Given the description of an element on the screen output the (x, y) to click on. 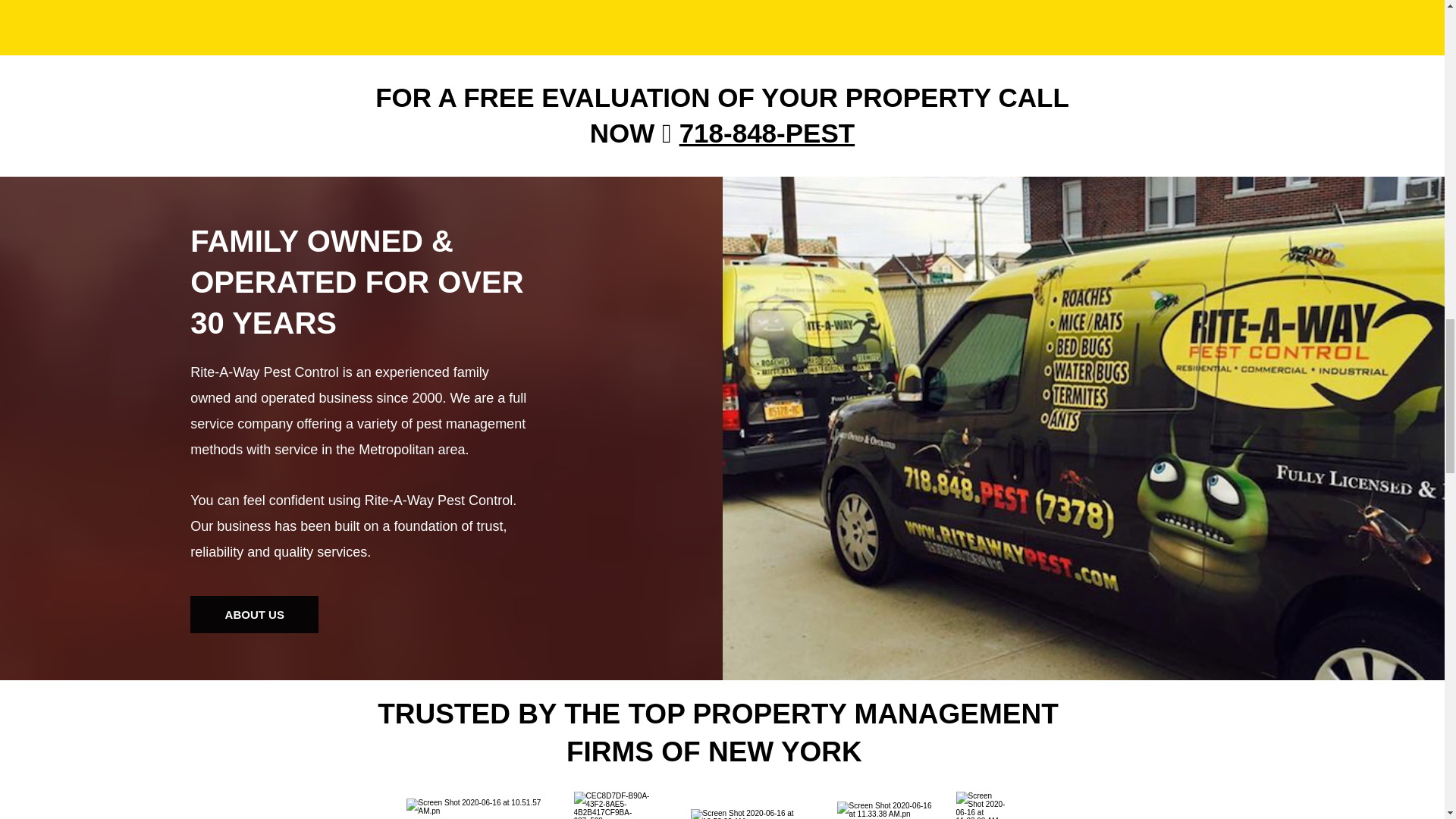
718-848-PEST (767, 132)
ABOUT US (254, 614)
